Given the description of an element on the screen output the (x, y) to click on. 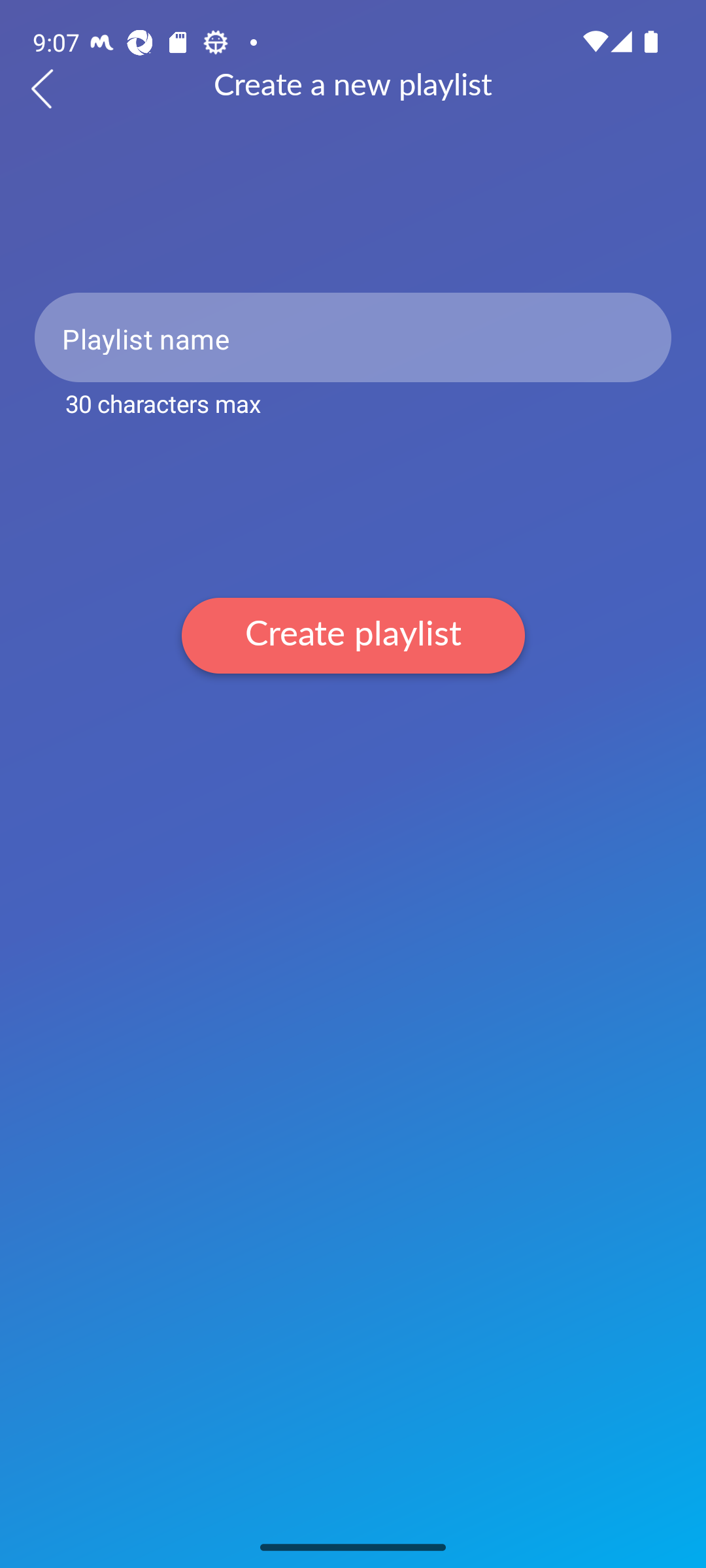
Playlist name (352, 337)
Create playlist (353, 634)
